Given the description of an element on the screen output the (x, y) to click on. 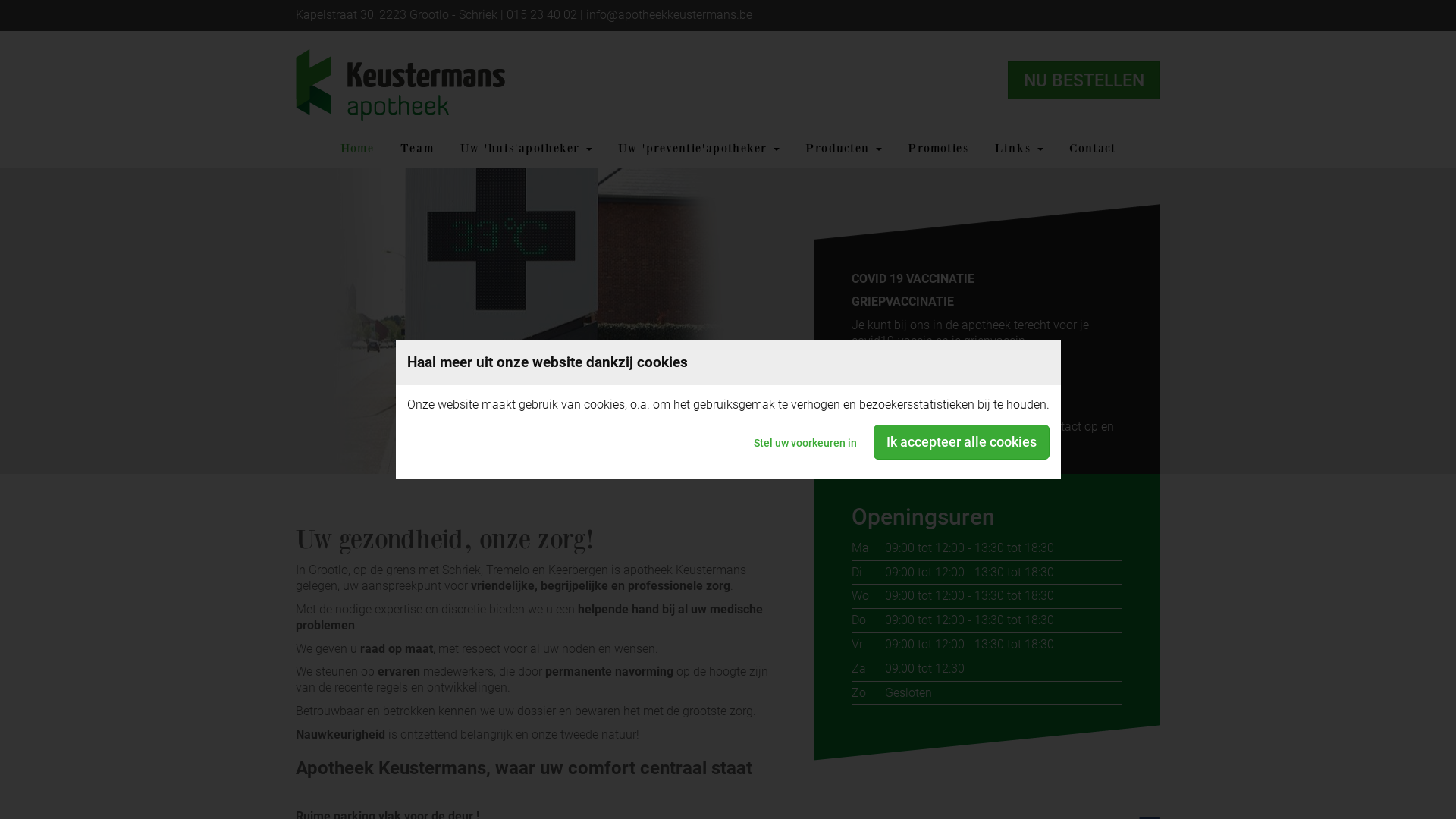
Uw 'preventie'apotheker Element type: text (698, 148)
Links Element type: text (1018, 148)
Ik accepteer alle cookies Element type: text (961, 441)
Producten Element type: text (842, 148)
Uw 'huis'apotheker Element type: text (525, 148)
Stel uw voorkeuren in Element type: text (804, 441)
NU BESTELLEN Element type: text (1083, 80)
Contact Element type: text (1091, 148)
Team Element type: text (416, 148)
Promoties Element type: text (938, 148)
afsprakenmodule Element type: text (897, 402)
Home Element type: text (357, 148)
